Given the description of an element on the screen output the (x, y) to click on. 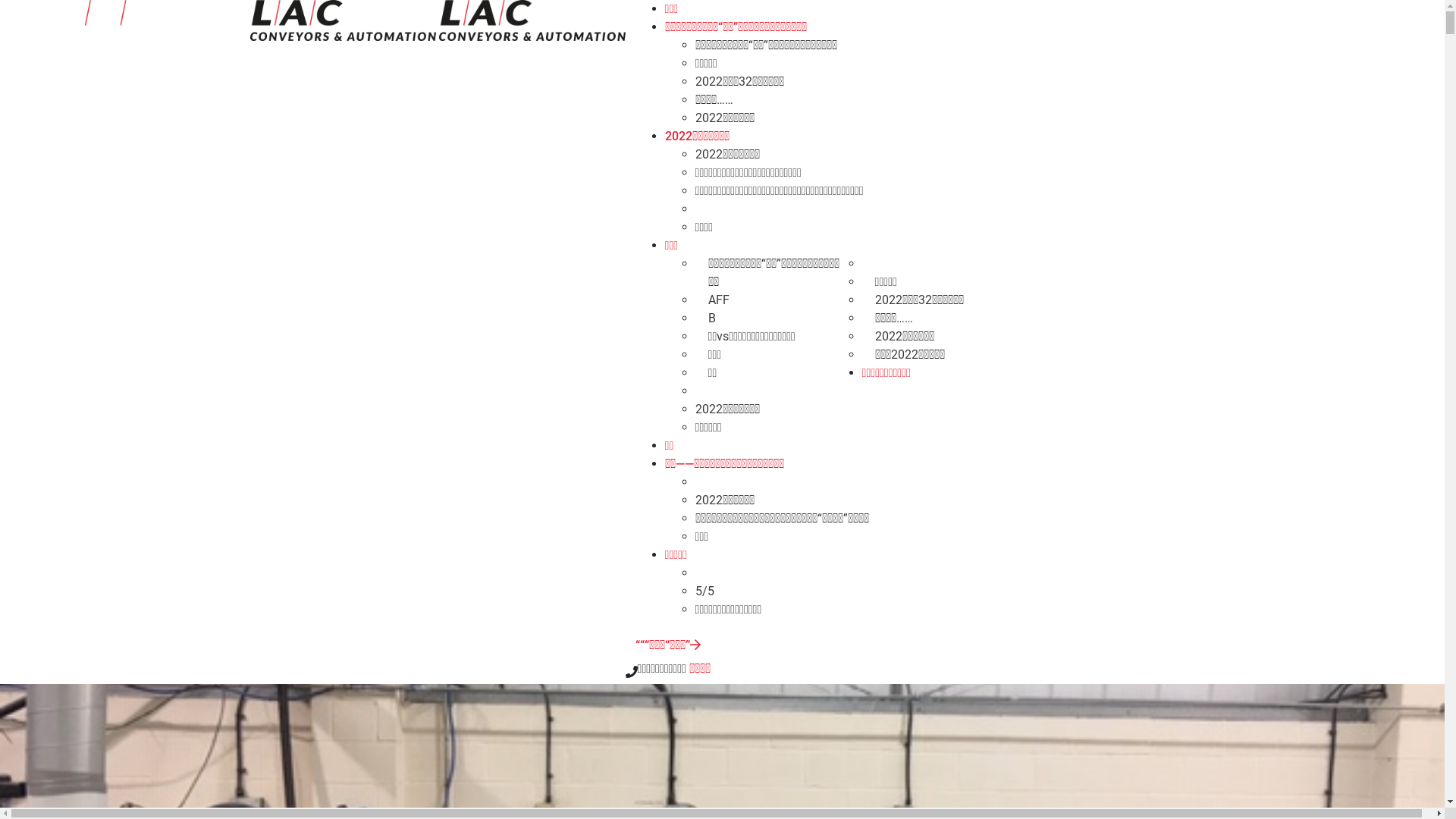
5/5 Element type: text (704, 590)
AFF Element type: text (718, 299)
B Element type: text (711, 317)
